Given the description of an element on the screen output the (x, y) to click on. 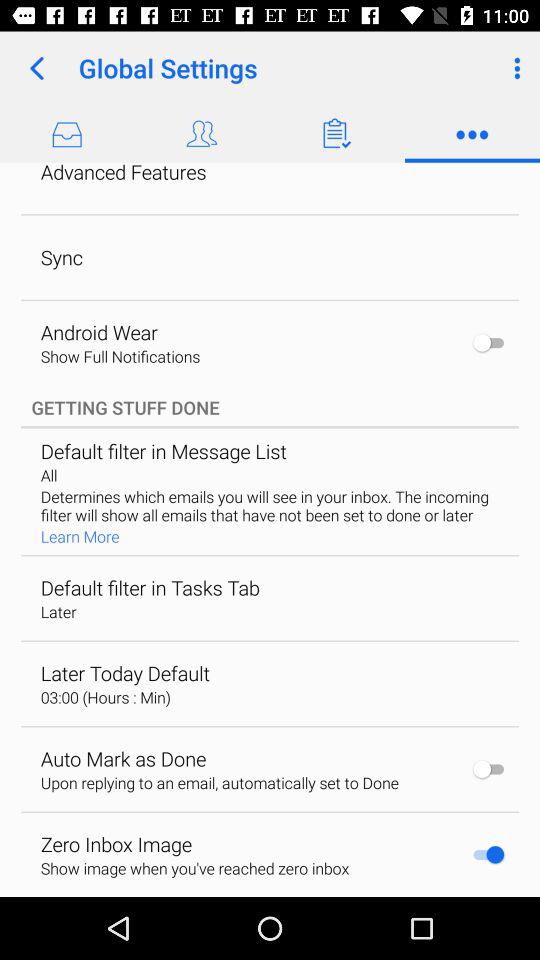
click the item below the all icon (268, 505)
